Given the description of an element on the screen output the (x, y) to click on. 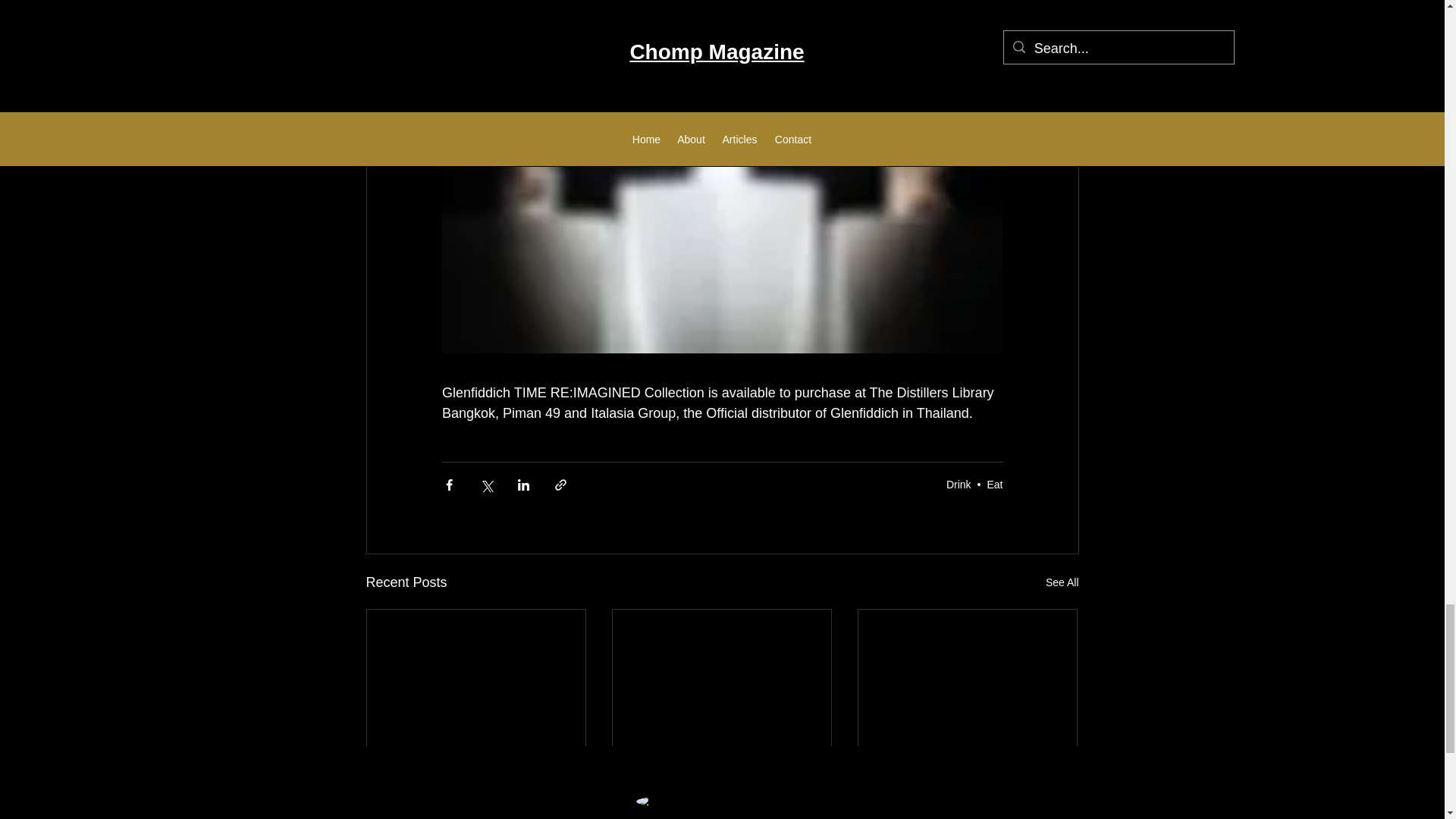
Drink (958, 484)
See All (1061, 582)
Eat (995, 484)
